Given the description of an element on the screen output the (x, y) to click on. 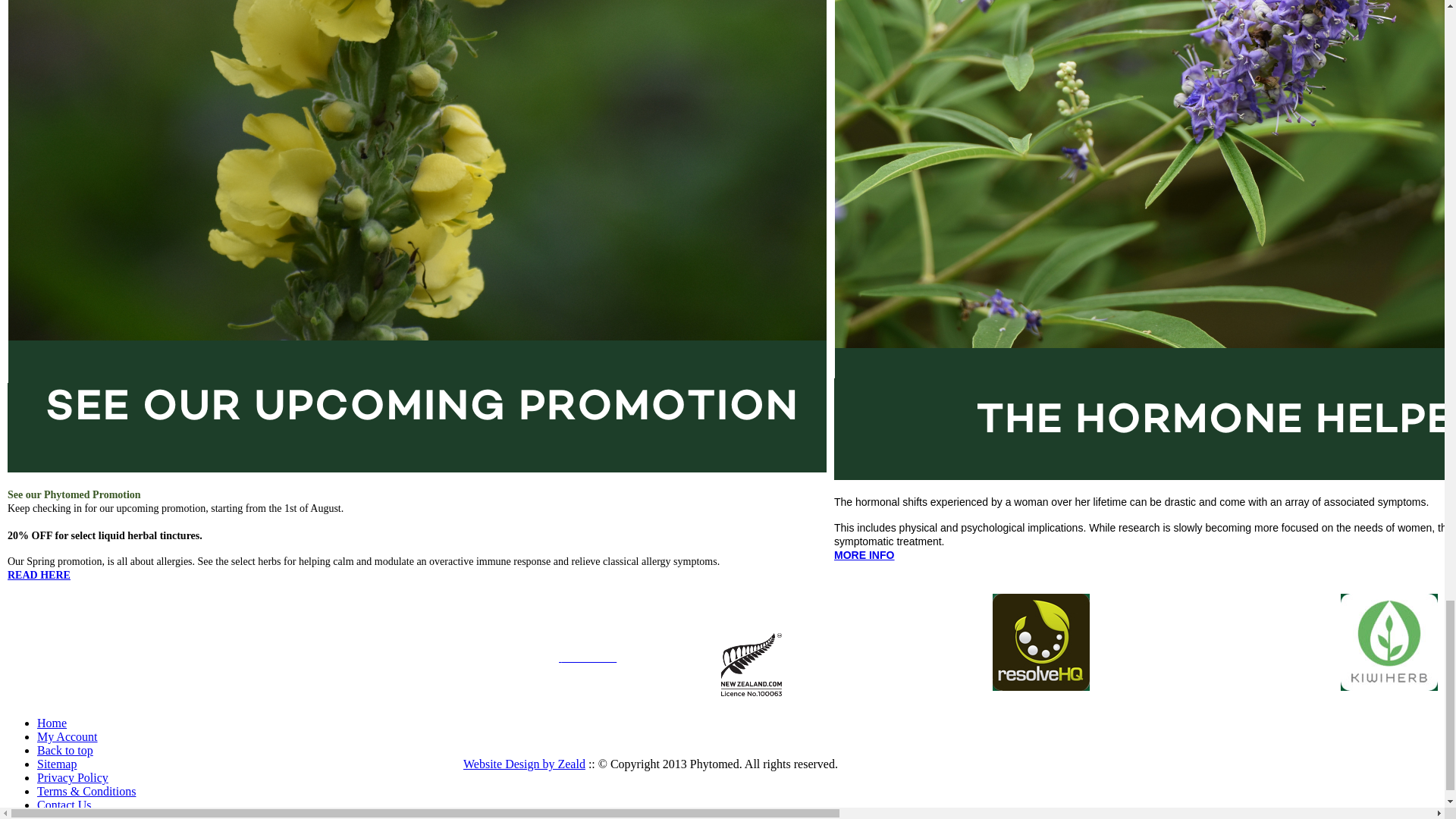
f1 (1389, 642)
FernMark-101 (750, 664)
resolve logo (1040, 642)
